Given the description of an element on the screen output the (x, y) to click on. 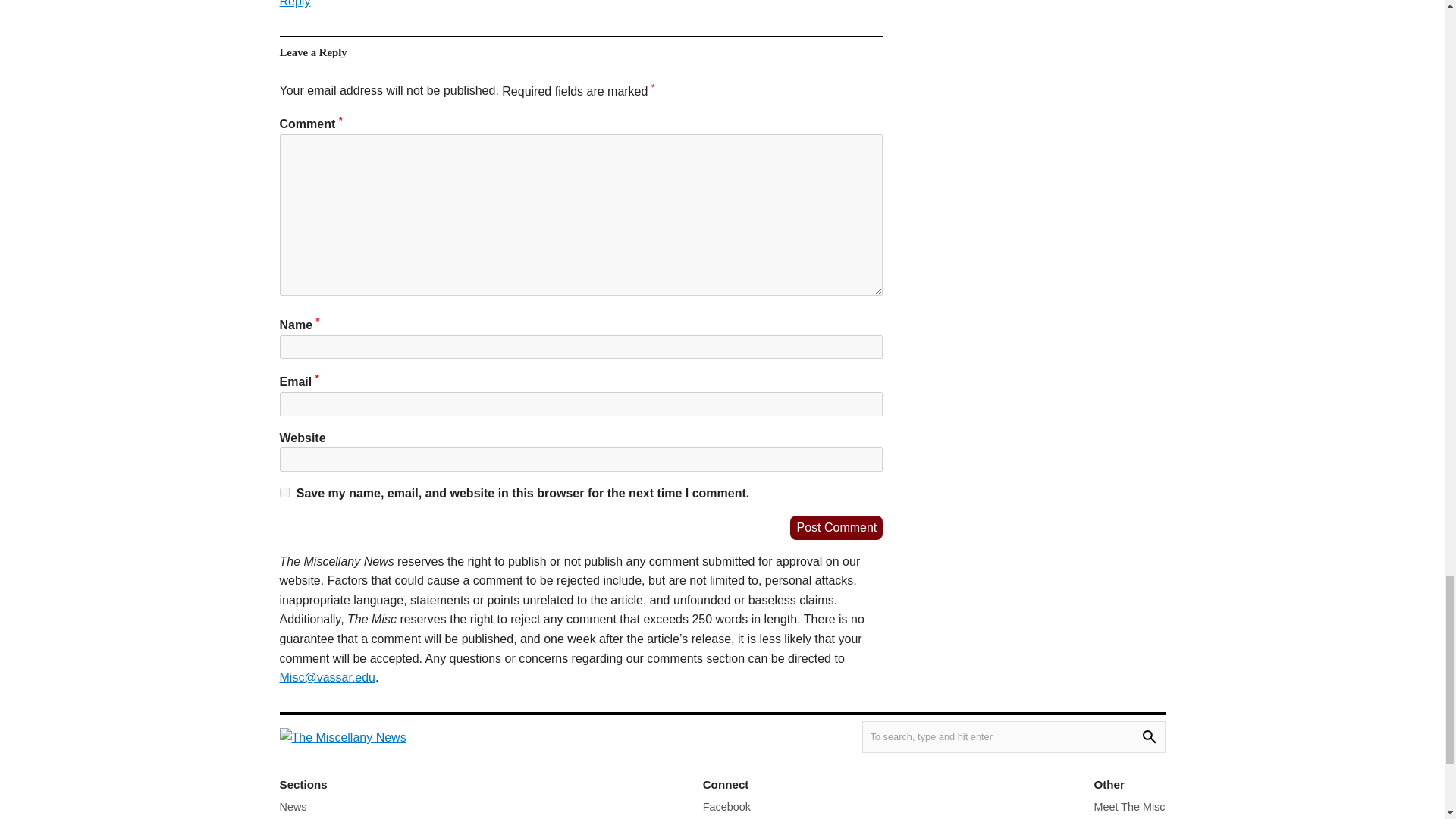
Post Comment (836, 527)
Post Comment (836, 527)
News (292, 806)
Reply (294, 3)
yes (283, 492)
